Given the description of an element on the screen output the (x, y) to click on. 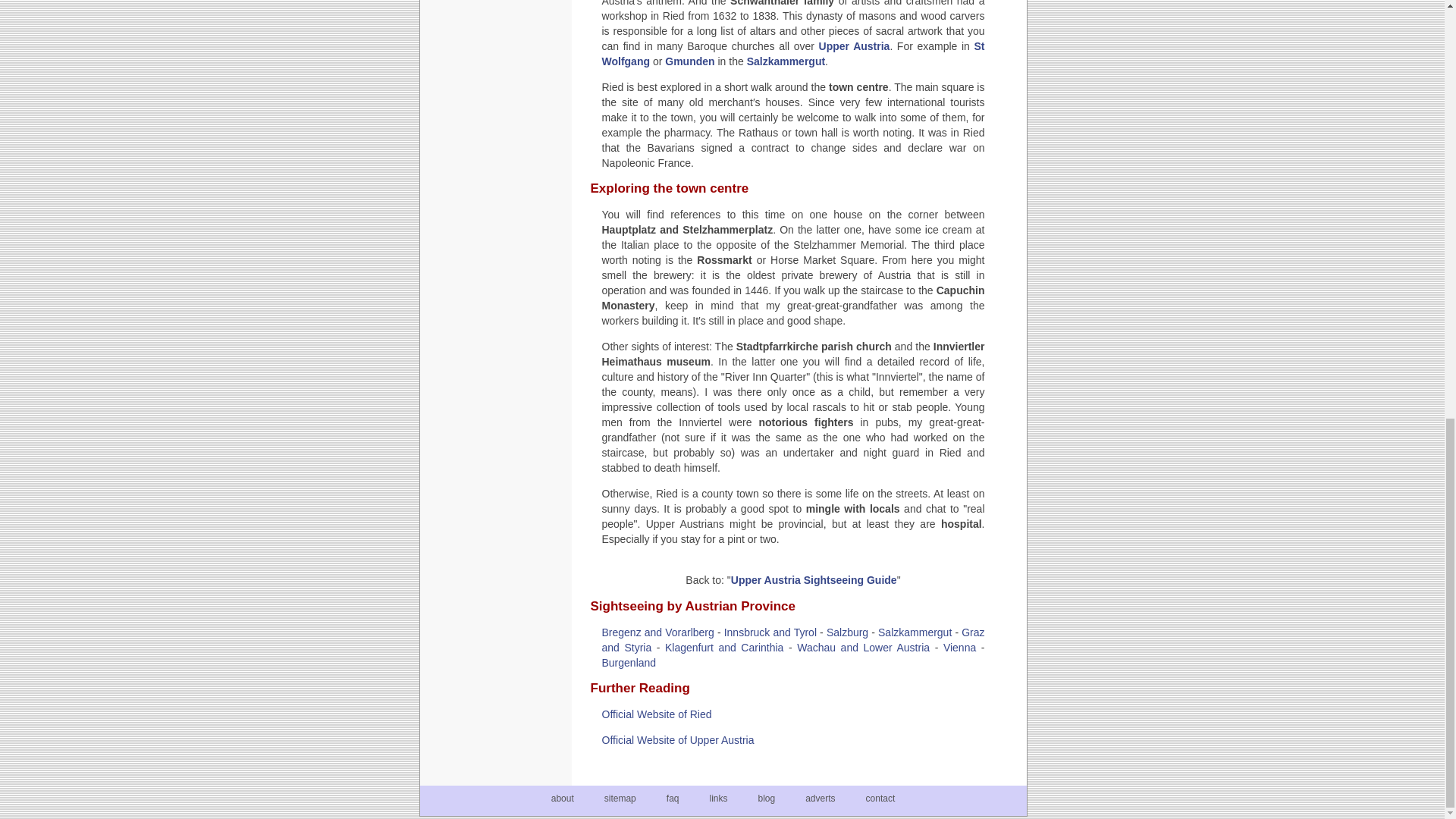
Klagenfurt and Carinthia (724, 647)
Gmunden (689, 61)
Graz and Styria (793, 639)
Burgenland (629, 662)
Vienna (959, 647)
Upper Austria (853, 46)
St Wolfgang (793, 53)
Salzkammergut (914, 632)
Salzburg (847, 632)
Upper Austria Sightseeing Guide (813, 580)
